Given the description of an element on the screen output the (x, y) to click on. 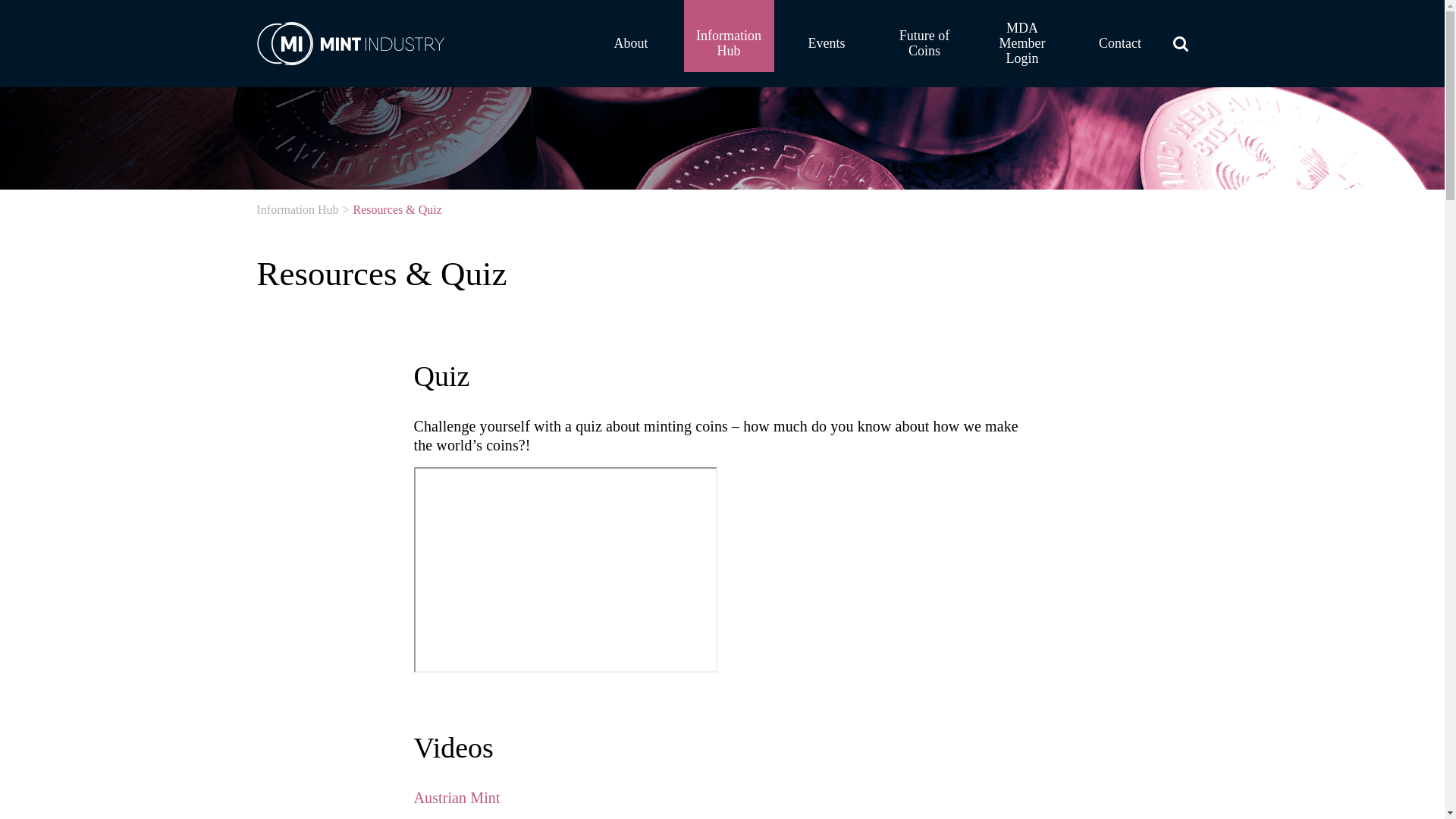
Information Hub Element type: text (297, 209)
MDA Member Login Element type: text (1021, 36)
Events Element type: text (826, 36)
About Element type: text (630, 36)
Contact Element type: text (1120, 36)
Future of Coins Element type: text (924, 36)
Information Hub Element type: text (729, 36)
Austrian Mint Element type: text (457, 797)
